Given the description of an element on the screen output the (x, y) to click on. 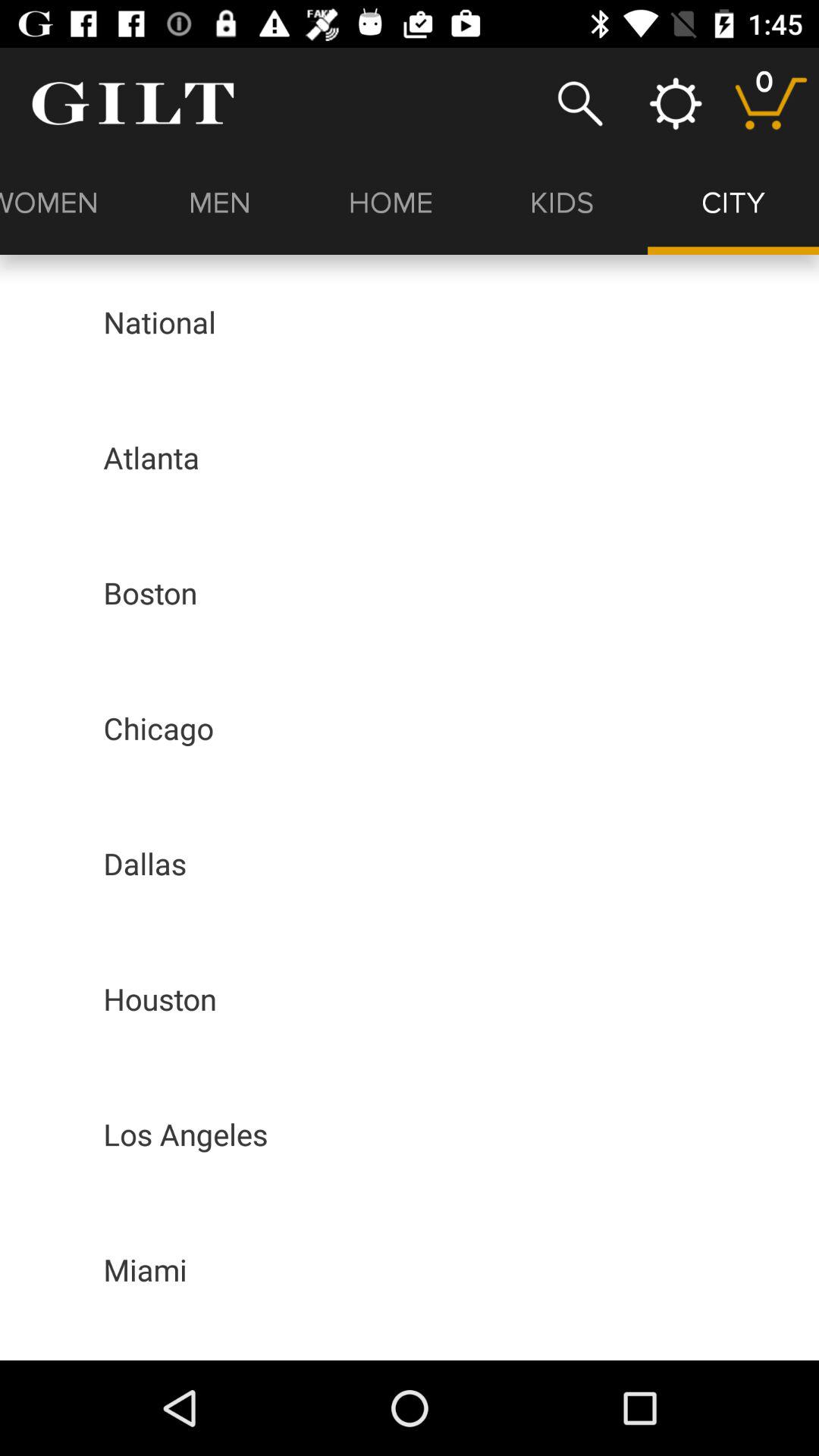
scroll to the miami item (145, 1269)
